Given the description of an element on the screen output the (x, y) to click on. 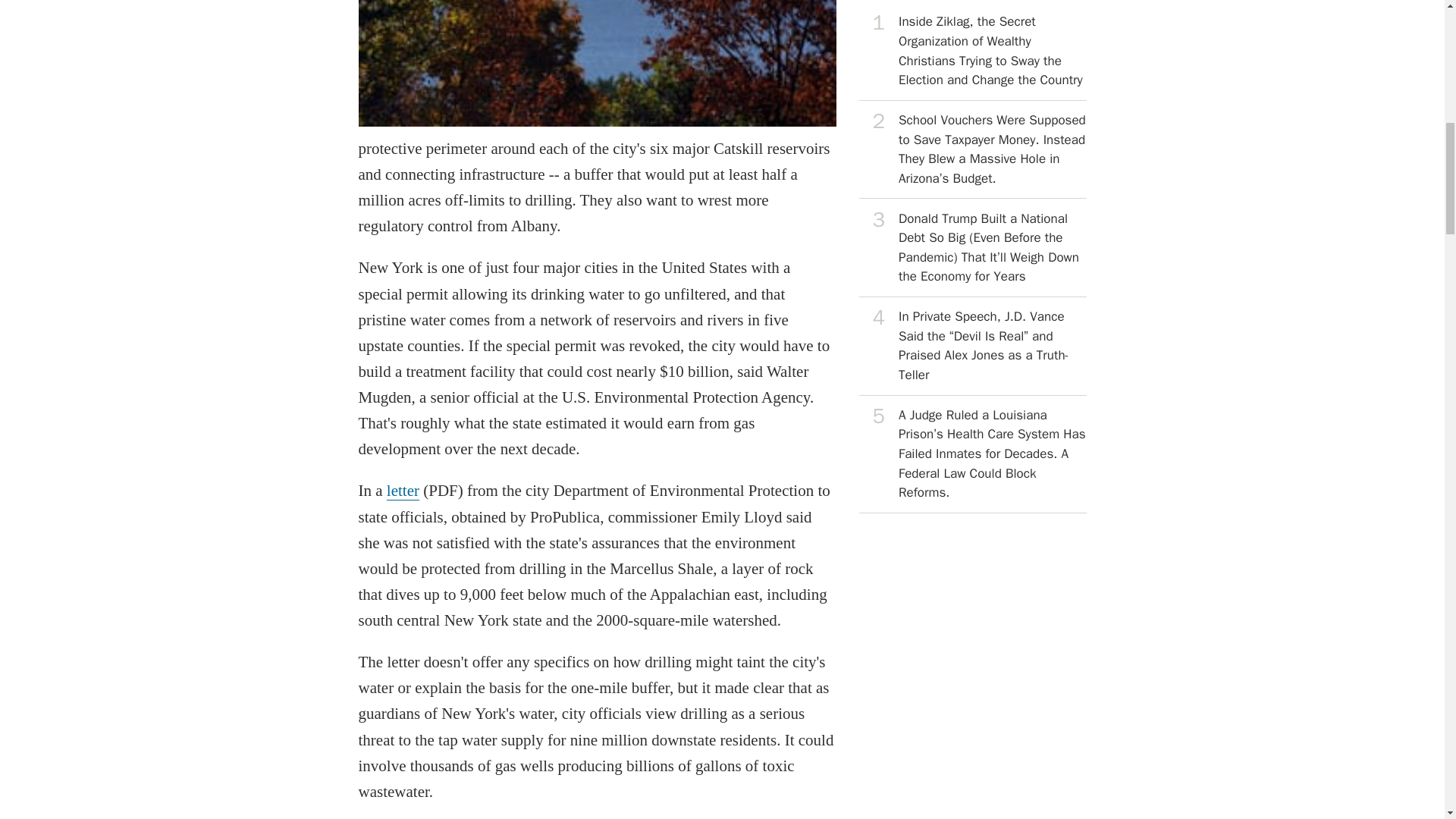
letter (403, 490)
View this (972, 346)
View this (972, 248)
View this (972, 454)
View this (972, 51)
View this (972, 149)
